Given the description of an element on the screen output the (x, y) to click on. 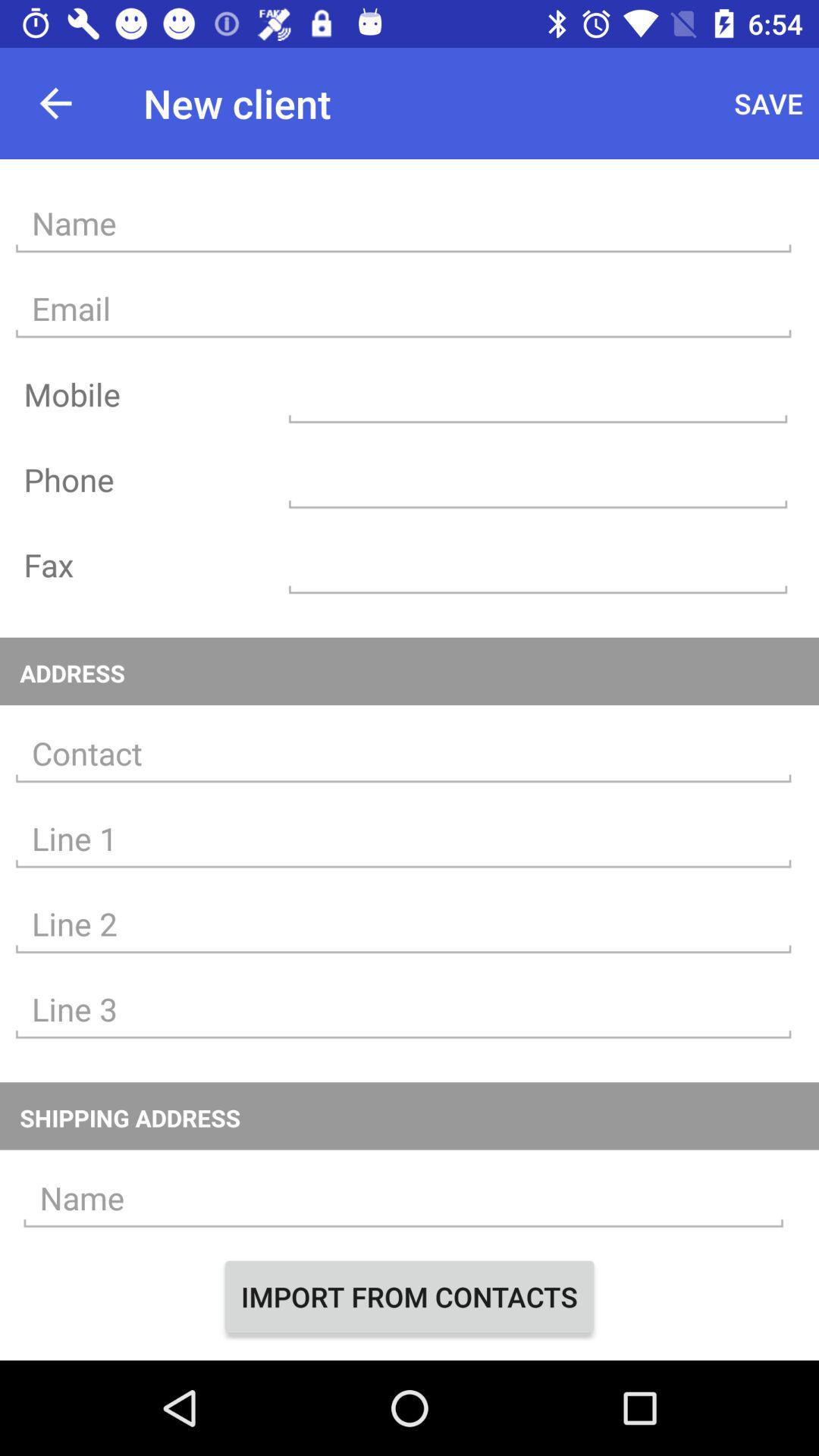
get in touch (403, 753)
